Given the description of an element on the screen output the (x, y) to click on. 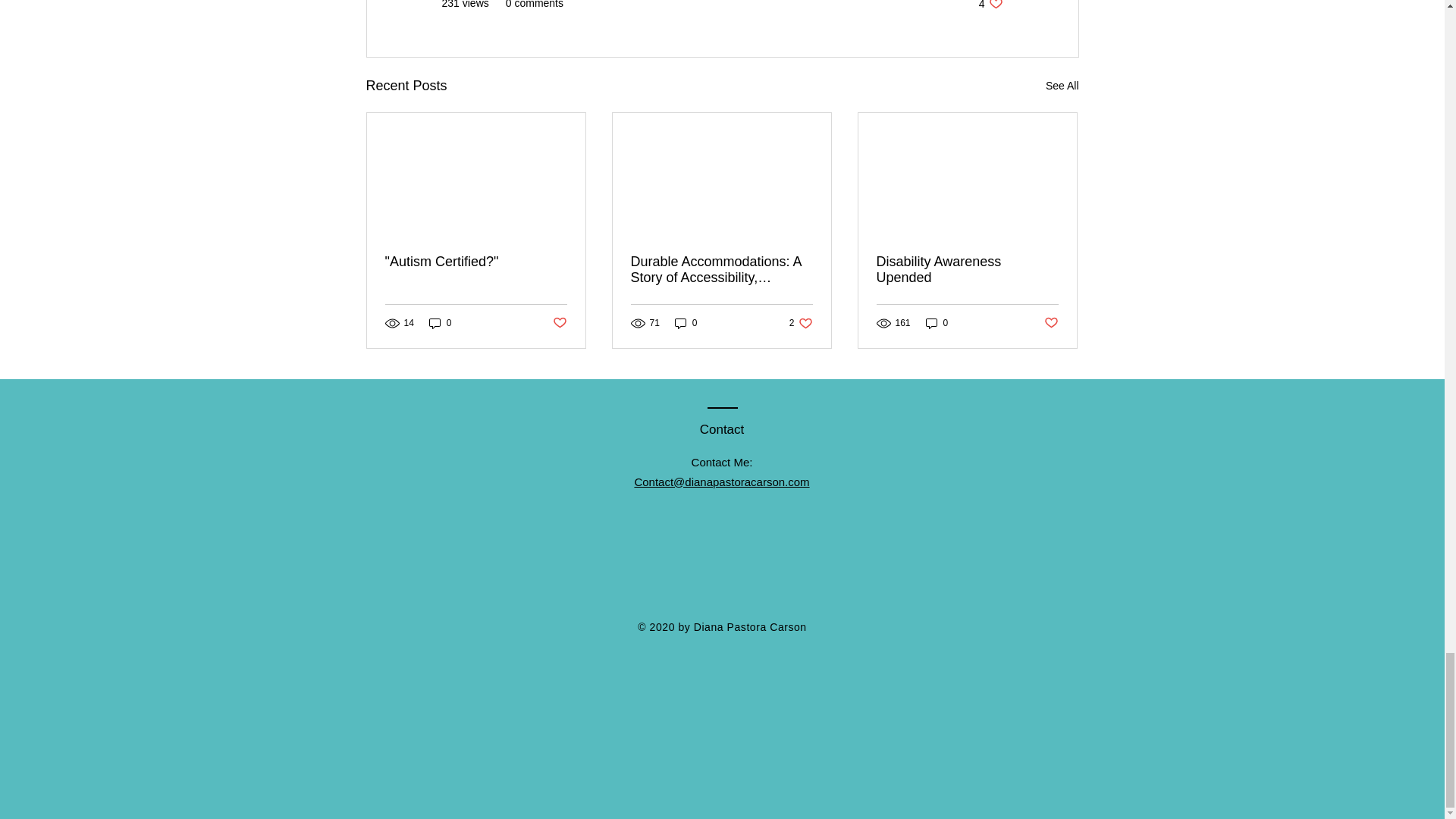
Post not marked as liked (800, 323)
See All (558, 323)
0 (990, 5)
"Autism Certified?" (1061, 86)
Post not marked as liked (937, 323)
Disability Awareness Upended (476, 261)
0 (1050, 323)
0 (967, 269)
